Given the description of an element on the screen output the (x, y) to click on. 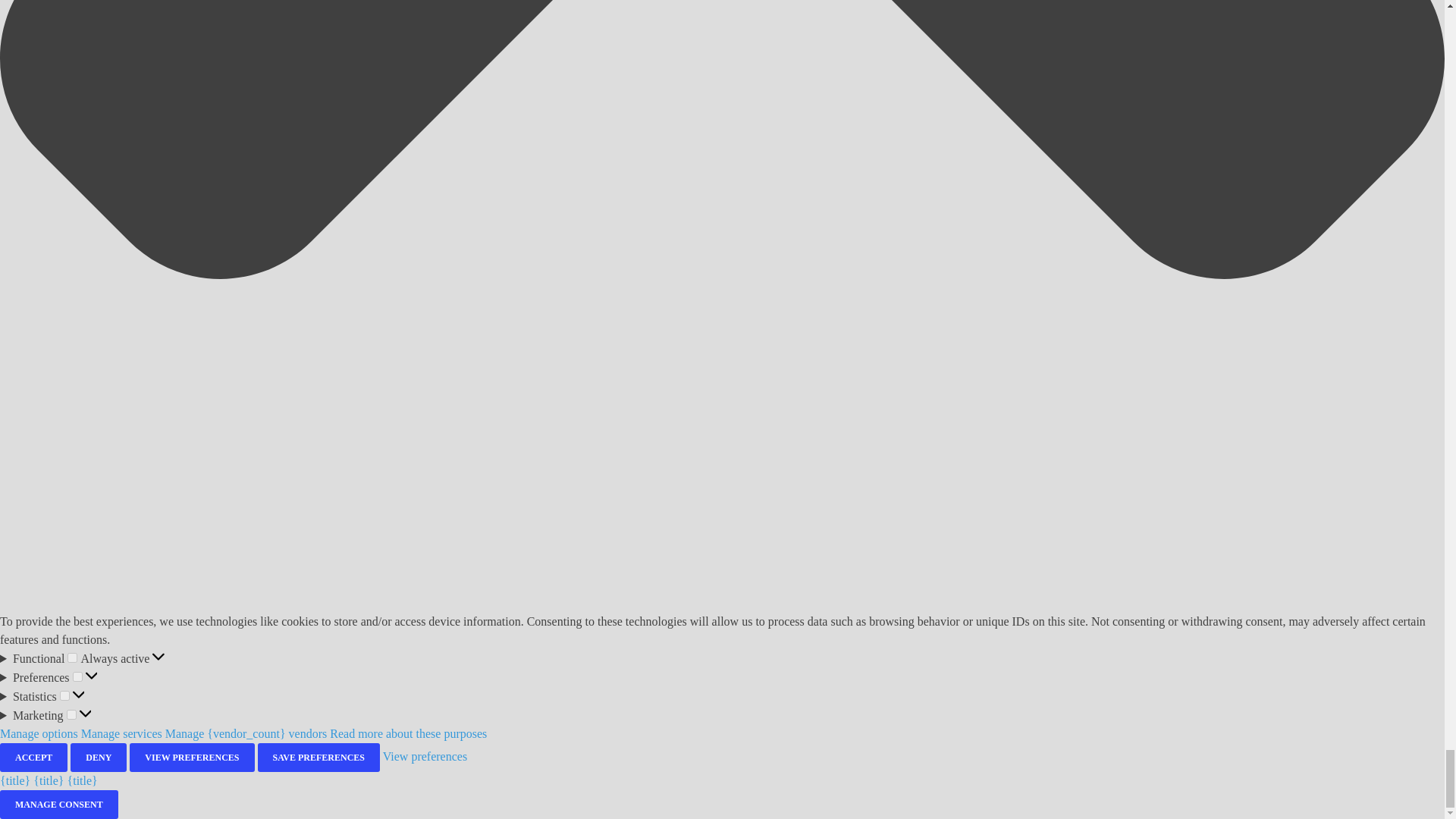
1 (77, 676)
1 (64, 696)
1 (71, 657)
1 (71, 714)
